Given the description of an element on the screen output the (x, y) to click on. 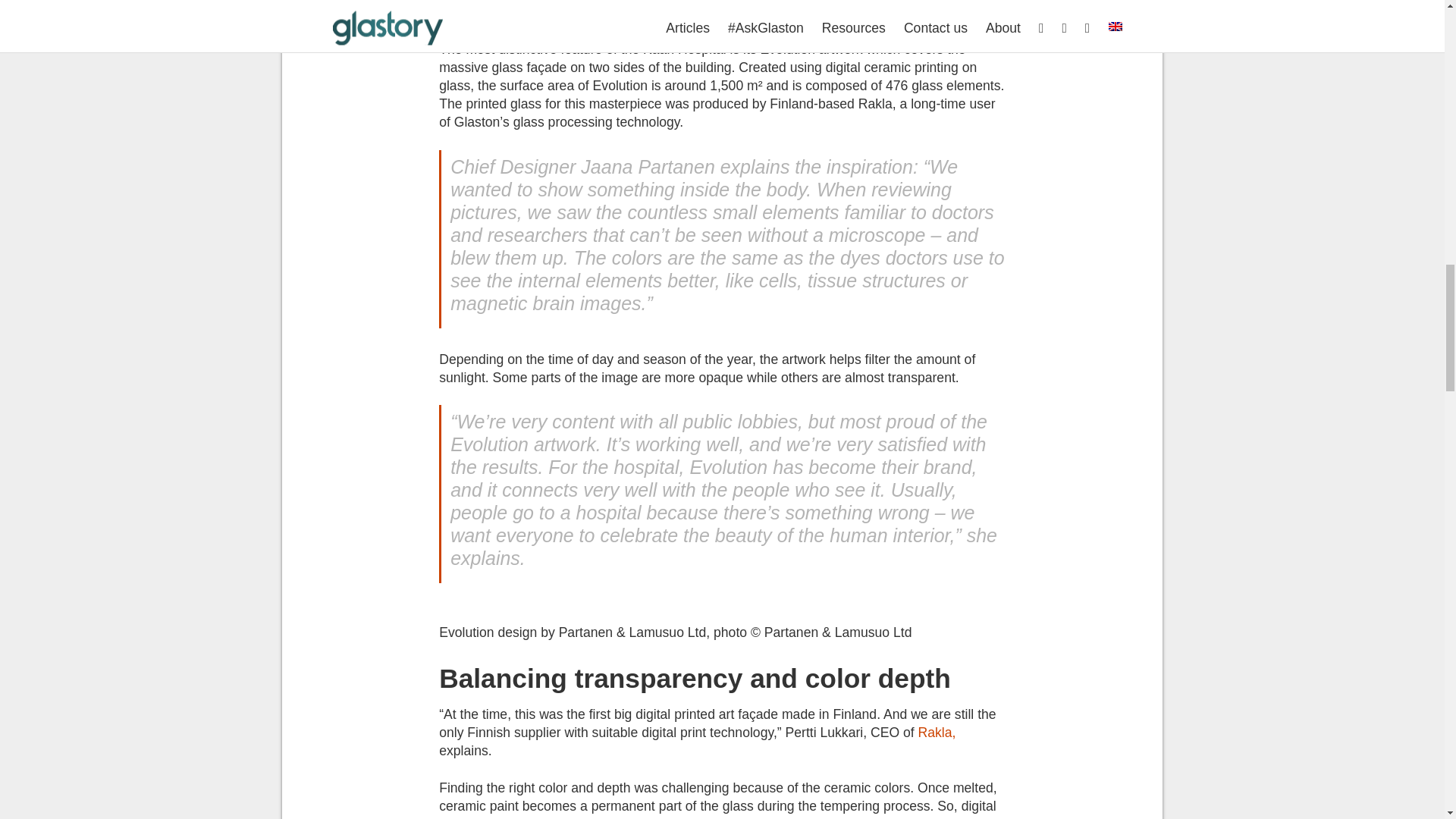
Rakla, (937, 732)
